Given the description of an element on the screen output the (x, y) to click on. 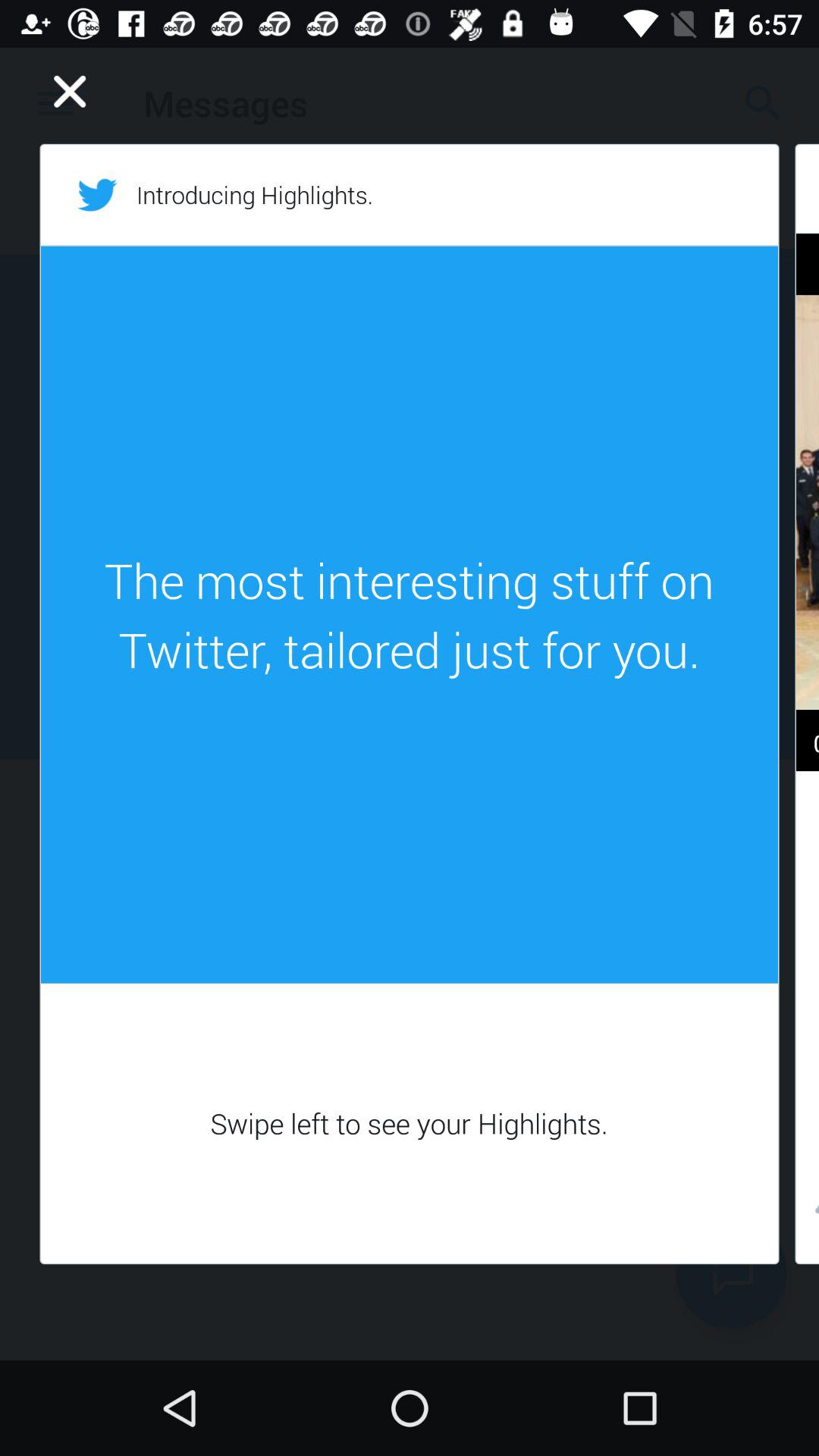
flip to 7,232 (807, 1213)
